Given the description of an element on the screen output the (x, y) to click on. 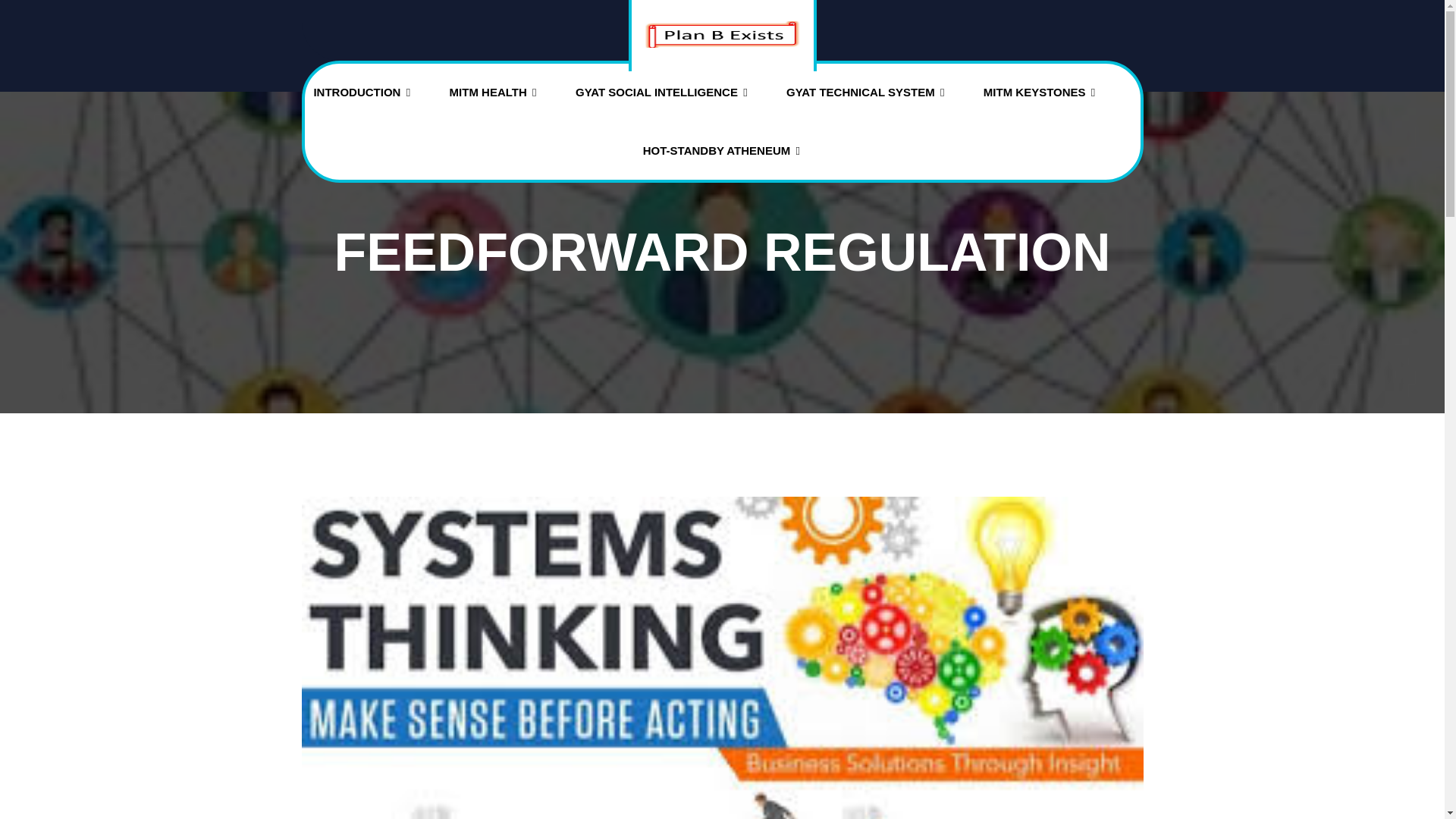
Business as Usual (375, 137)
INTRODUCTION (362, 92)
In the Beginning (526, 137)
MITM HEALTH (493, 92)
Introduction (362, 92)
Business As Usual (375, 137)
Have Your Act Together (848, 137)
In The Beginning (526, 137)
GYAT TECHNICAL SYSTEM (866, 92)
MitM Health (493, 92)
To GYAT Or Not To GYAT (637, 137)
GYAT SOCIAL INTELLIGENCE (662, 92)
Inalienable Right To Health (511, 137)
Inalienable Right to Health (511, 137)
